Given the description of an element on the screen output the (x, y) to click on. 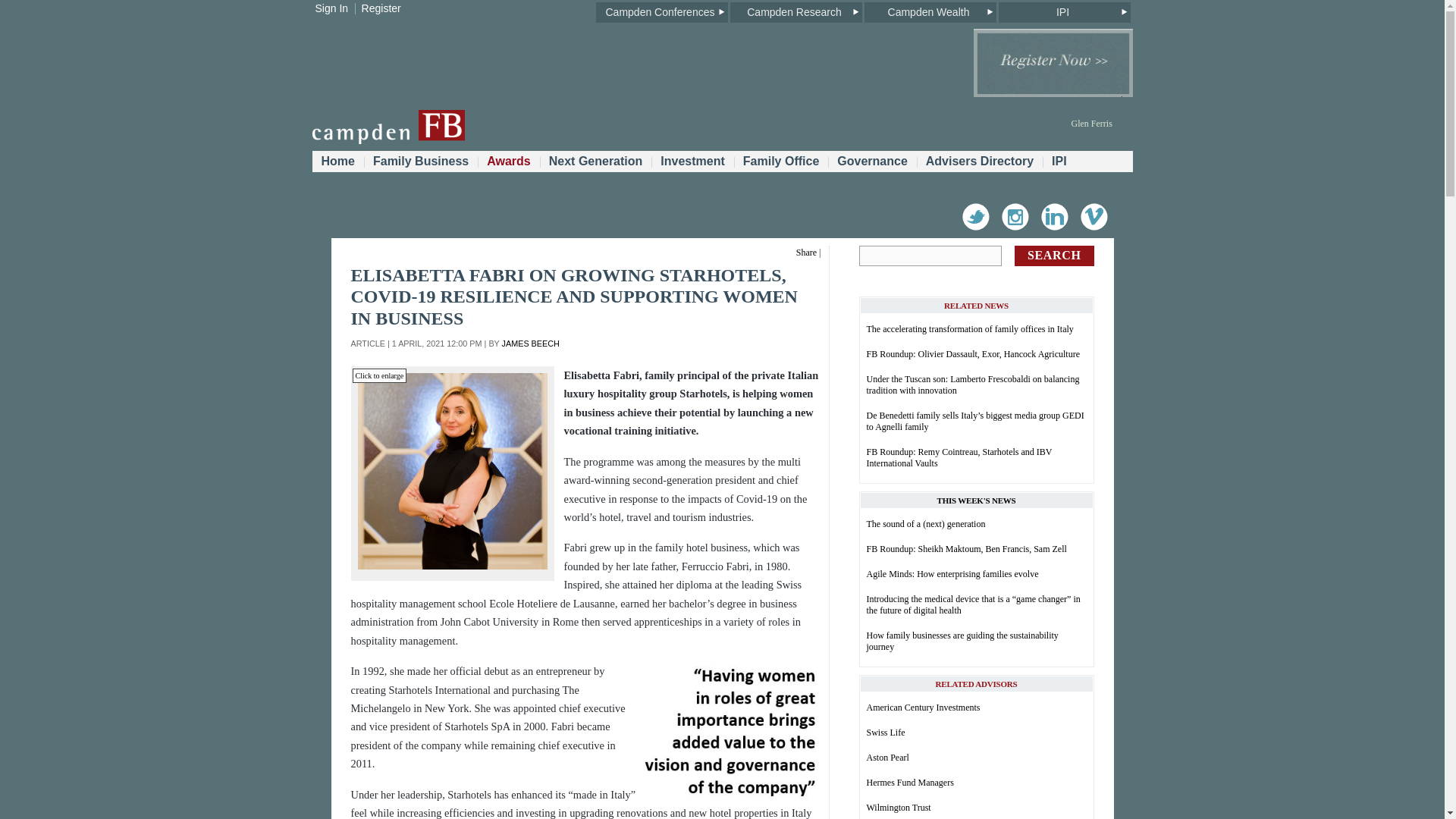
Sign In (332, 8)
Campden Wealth (929, 12)
IPI (1063, 12)
Home (338, 160)
Governance (871, 160)
Register (381, 8)
Investment (691, 160)
Campden FB (388, 140)
Awards (508, 160)
